Given the description of an element on the screen output the (x, y) to click on. 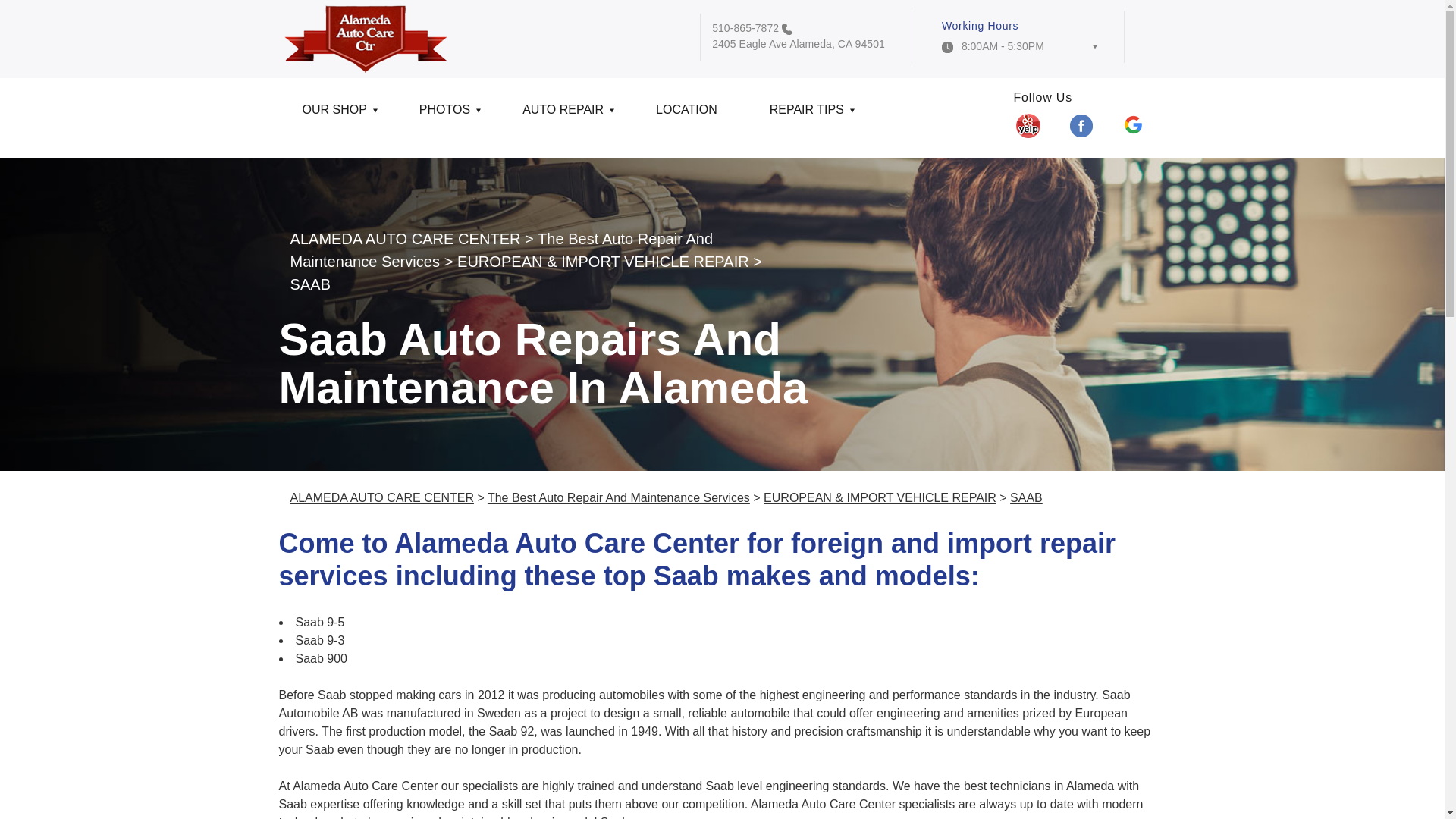
REPAIR TIPS (808, 115)
The Best Auto Repair And Maintenance Services (501, 250)
OUR SHOP (337, 115)
AUTO REPAIR (565, 115)
510-865-7872 (744, 28)
SAAB (1026, 497)
The Best Auto Repair And Maintenance Services (618, 497)
PHOTOS (447, 115)
LOCATION (688, 115)
SAAB (309, 284)
